Given the description of an element on the screen output the (x, y) to click on. 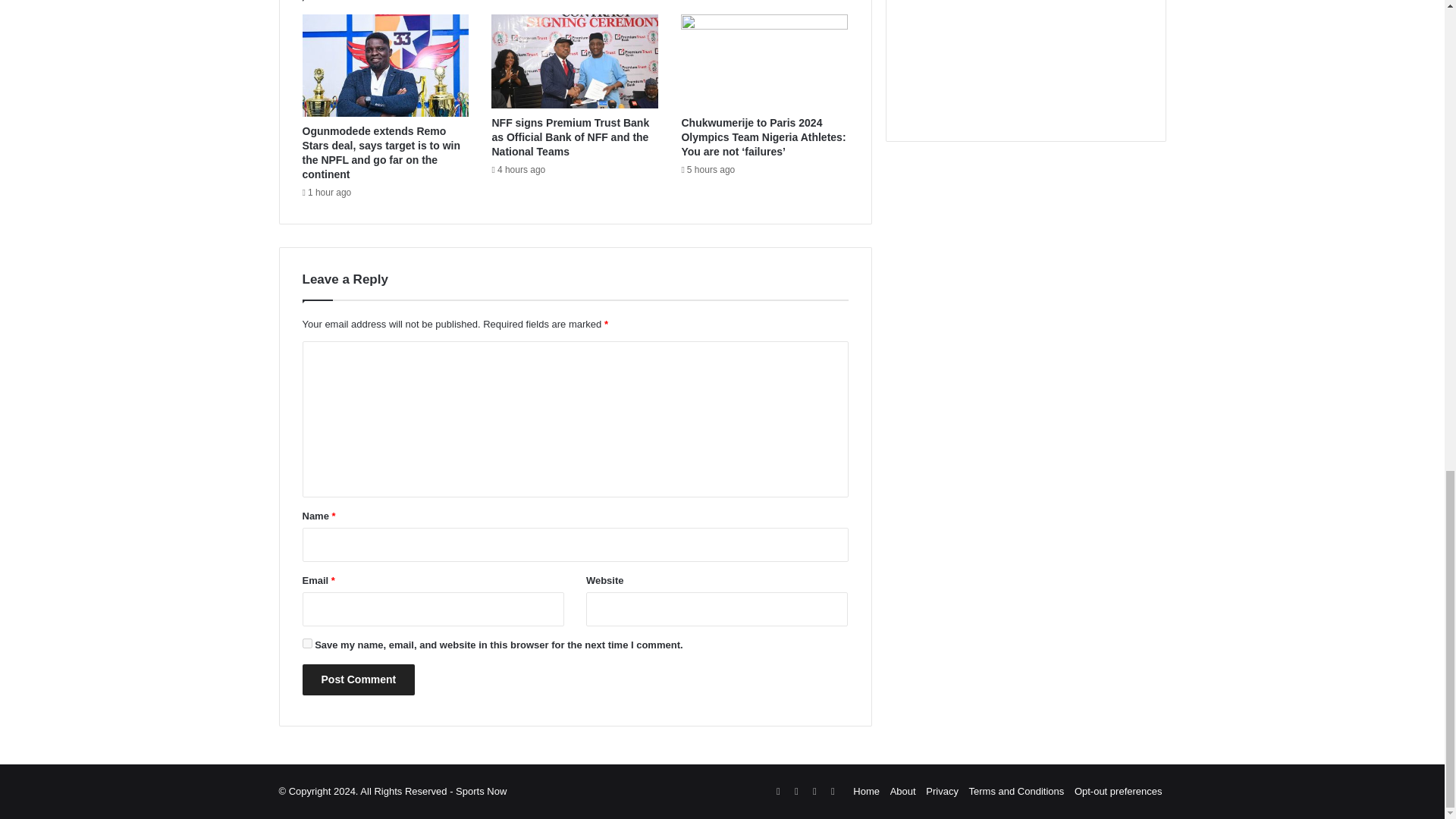
yes (306, 643)
Post Comment (357, 679)
